Given the description of an element on the screen output the (x, y) to click on. 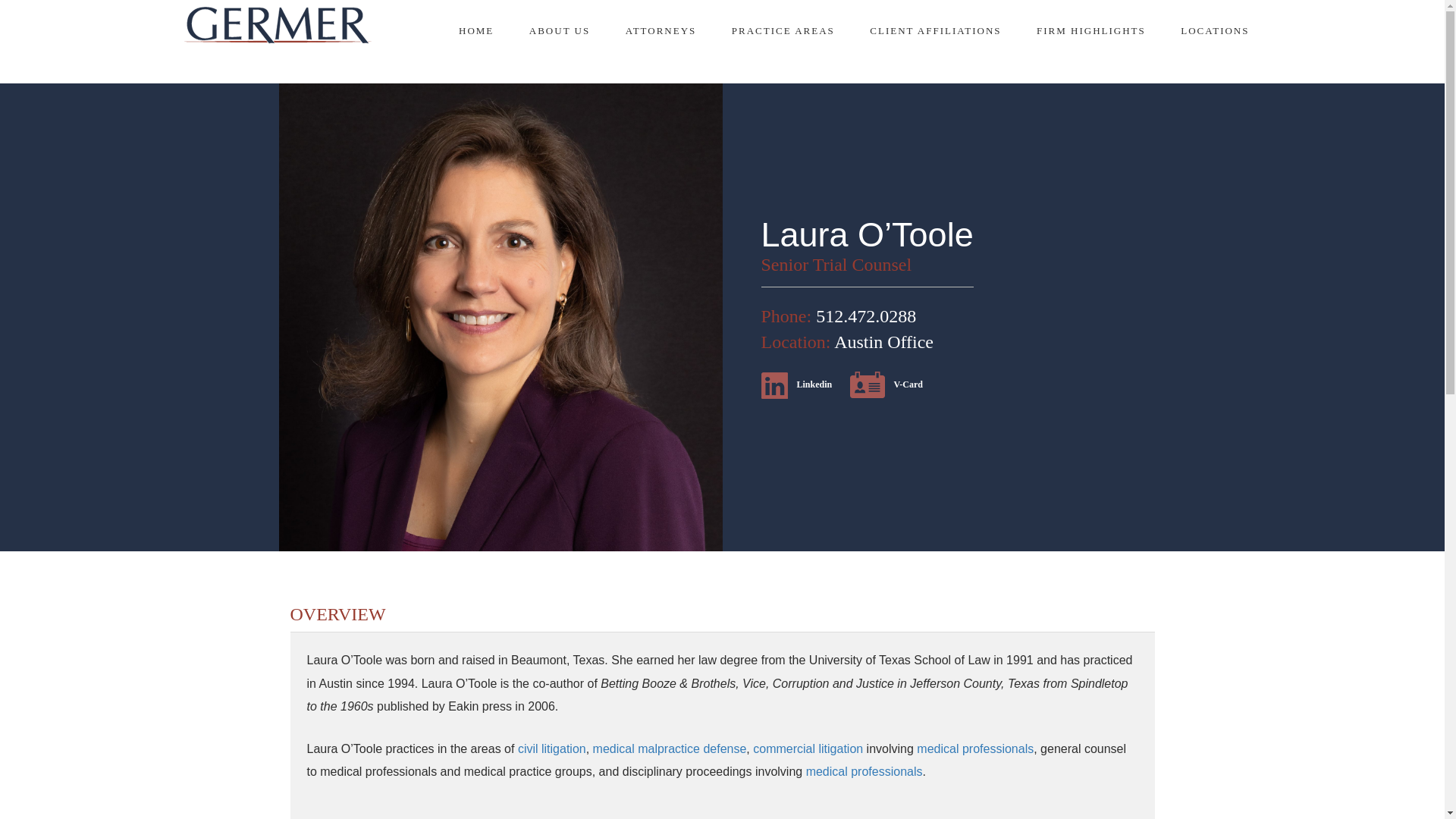
medical professionals (864, 771)
commercial litigation (807, 748)
FIRM HIGHLIGHTS (1090, 31)
LOCATIONS (1214, 31)
medical professionals (975, 748)
ATTORNEYS (661, 31)
ABOUT US (559, 31)
V-Card (886, 384)
medical malpractice defense (669, 748)
PRACTICE AREAS (783, 31)
CLIENT AFFILIATIONS (935, 31)
civil litigation (552, 748)
Attorney at Law (277, 25)
HOME (475, 31)
Linkedin (796, 384)
